Given the description of an element on the screen output the (x, y) to click on. 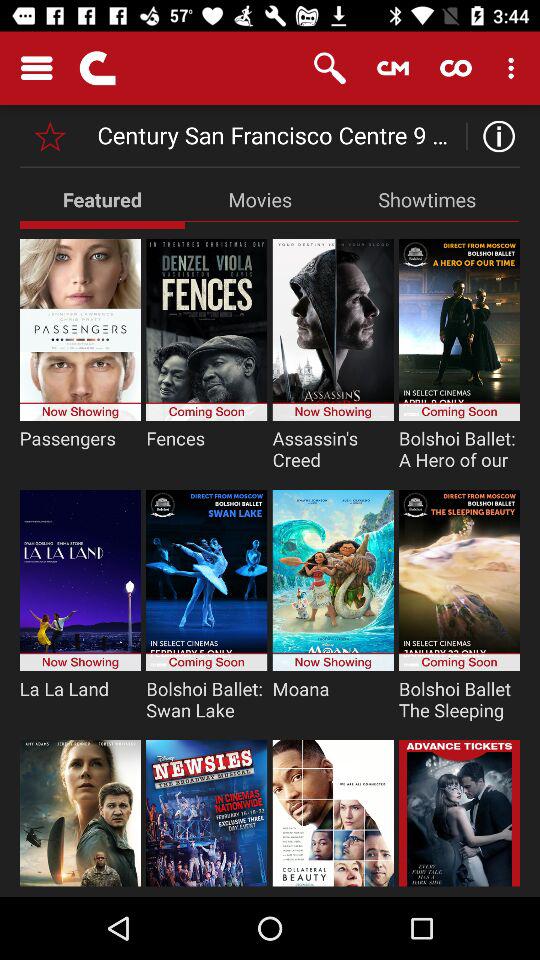
choose icon above the century san francisco (392, 67)
